Given the description of an element on the screen output the (x, y) to click on. 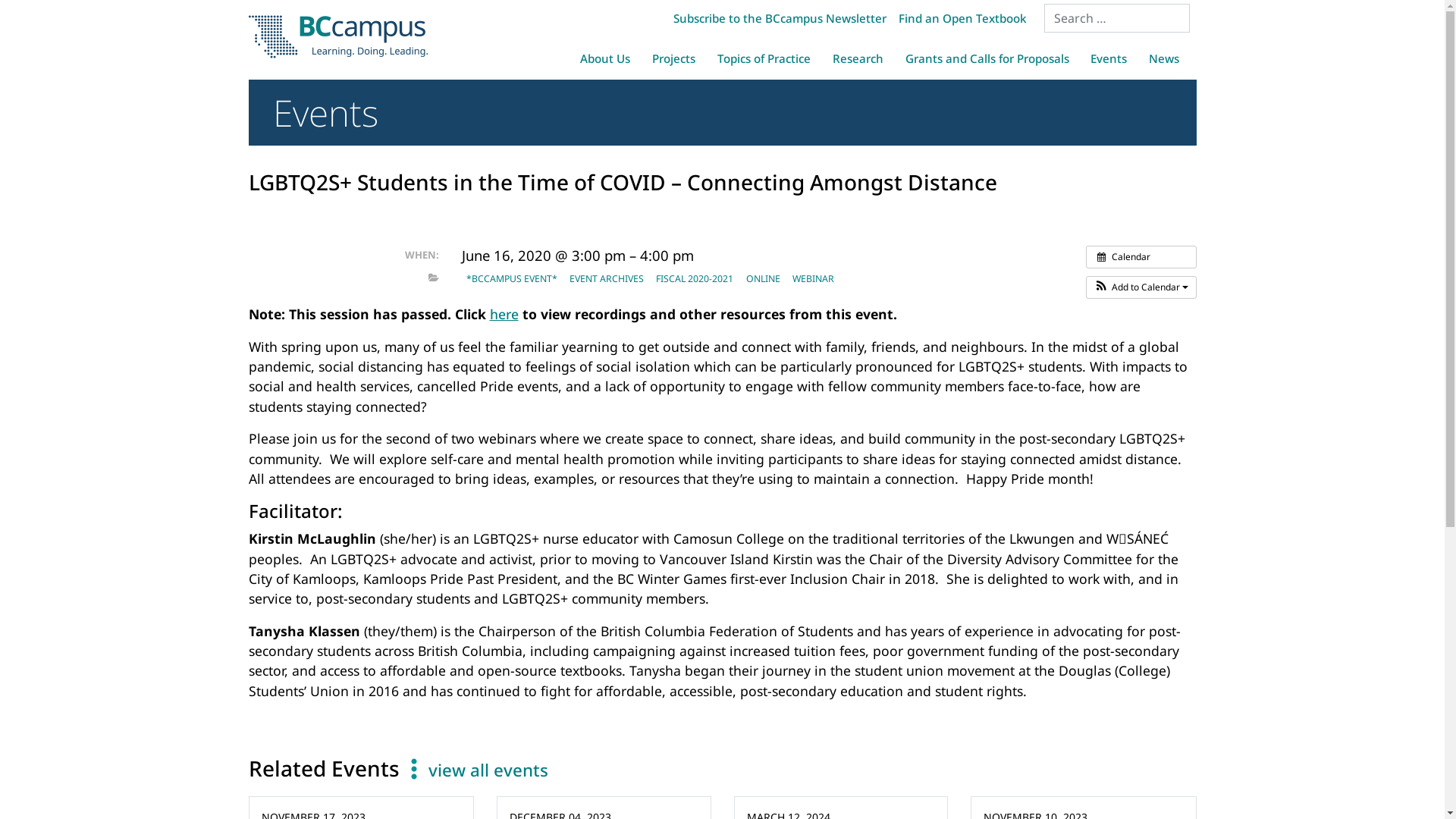
News Element type: text (1164, 58)
Search Element type: text (29, 14)
About Us Element type: text (605, 58)
Events Element type: text (1108, 58)
ONLINE Element type: text (762, 278)
Categories Element type: hover (432, 277)
Projects Element type: text (673, 58)
Research Element type: text (857, 58)
FISCAL 2020-2021 Element type: text (694, 278)
EVENT ARCHIVES Element type: text (606, 278)
Topics of Practice Element type: text (764, 58)
Subscribe to the BCcampus Newsletter Element type: text (779, 18)
Grants and Calls for Proposals Element type: text (986, 58)
view all events Element type: text (487, 769)
Calendar Element type: text (1140, 256)
WEBINAR Element type: text (812, 278)
here Element type: text (503, 313)
*BCCAMPUS EVENT* Element type: text (511, 278)
Find an Open Textbook Element type: text (962, 18)
